Given the description of an element on the screen output the (x, y) to click on. 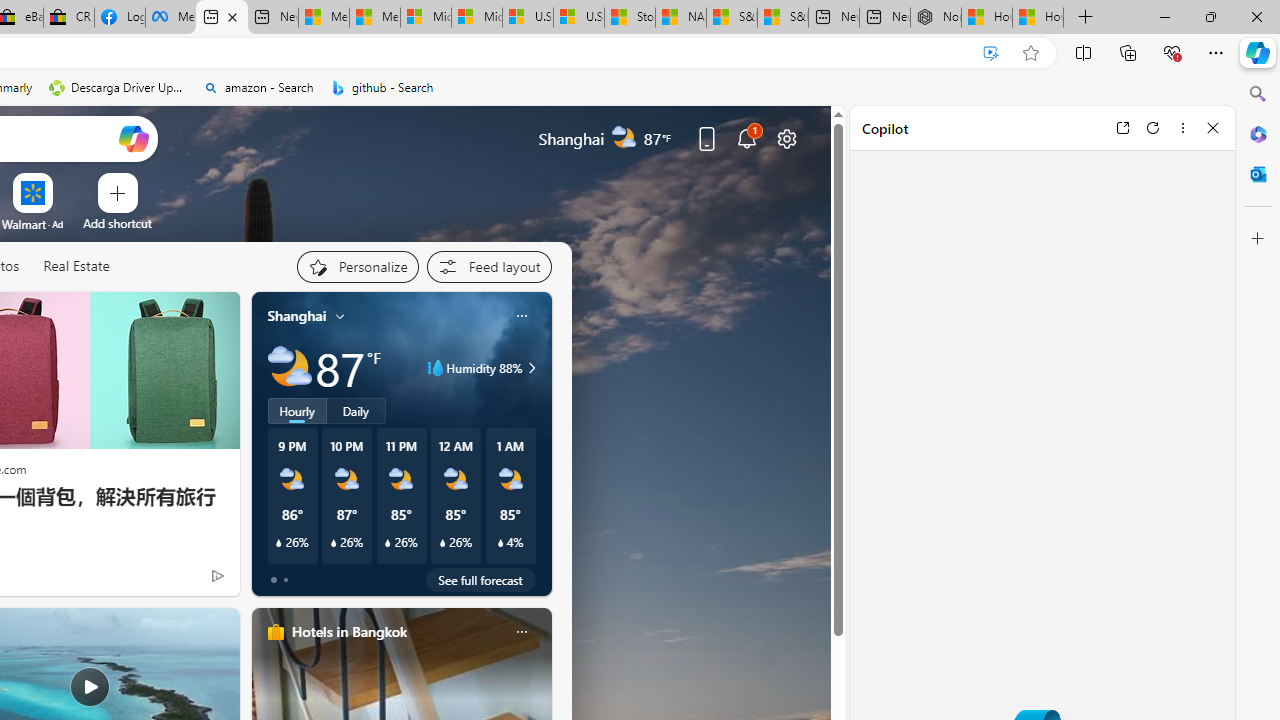
Feed settings (488, 266)
Enhance video (991, 53)
Partly cloudy (289, 368)
Daily (356, 411)
My location (340, 315)
Real Estate (75, 267)
